Given the description of an element on the screen output the (x, y) to click on. 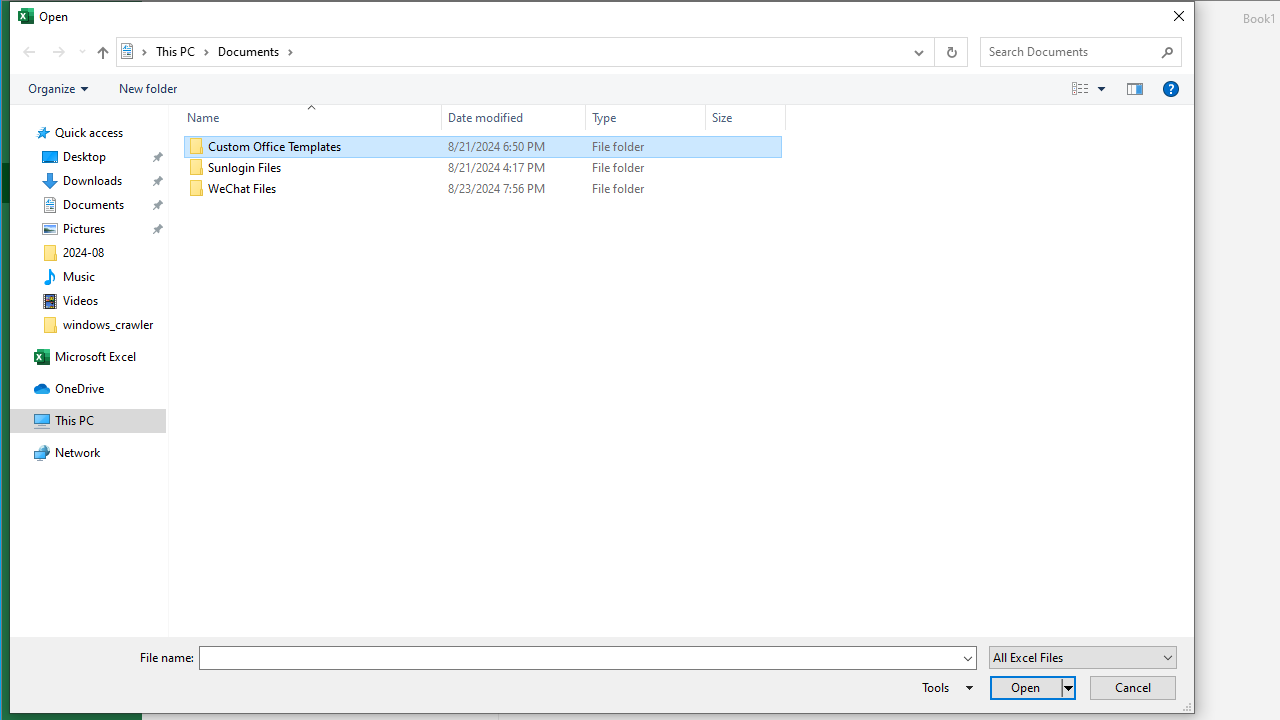
Address band toolbar (933, 51)
&Help (1171, 89)
This PC (182, 51)
Recent locations (81, 51)
WeChat Files (483, 188)
Preview pane (1135, 89)
Forward (Alt + Right Arrow) (58, 51)
Documents (255, 51)
Command Module (602, 89)
Size (745, 188)
Name (305, 117)
Refresh "Documents" (F5) (950, 51)
Search Box (1070, 51)
